Given the description of an element on the screen output the (x, y) to click on. 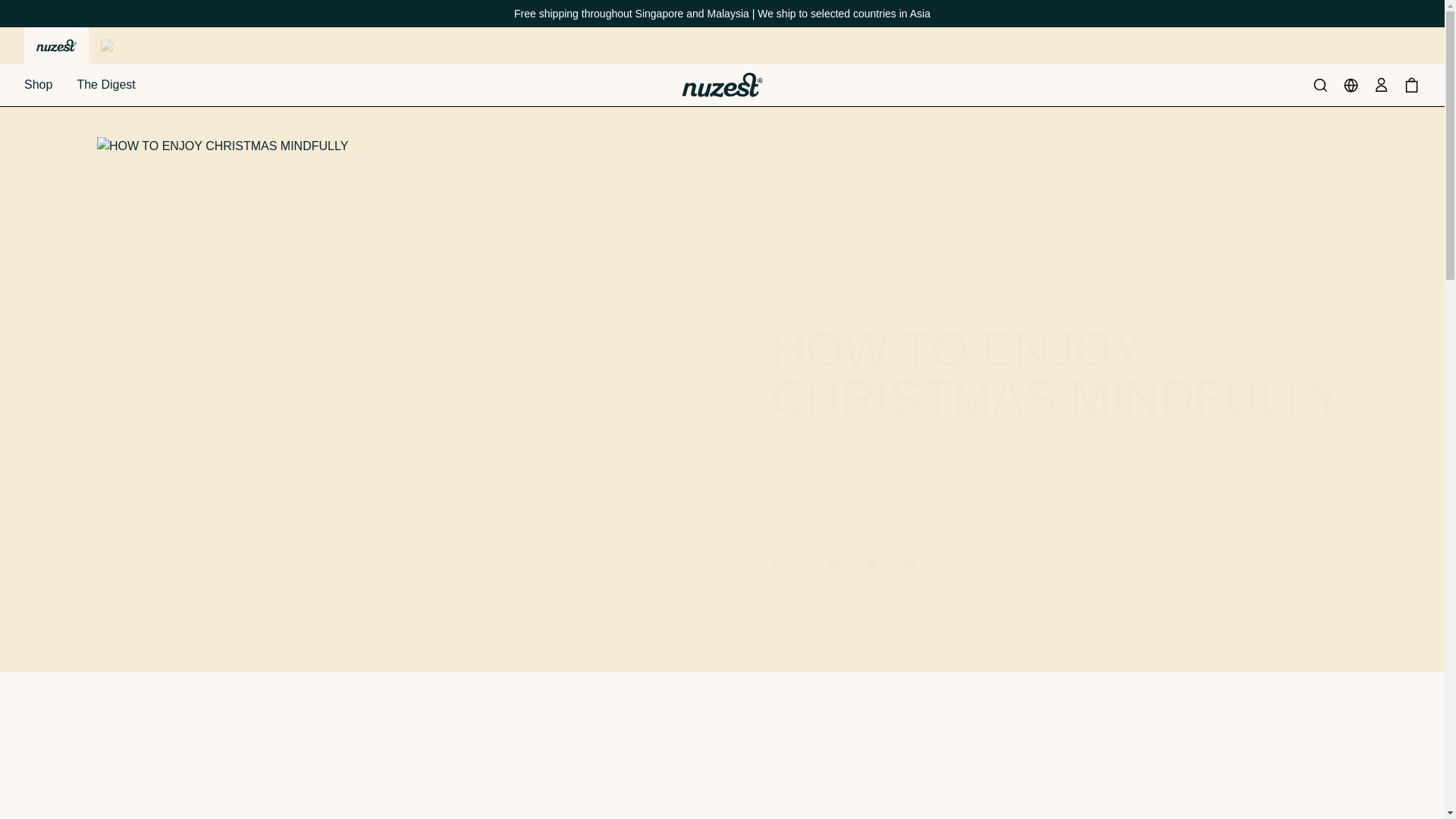
Shop (38, 84)
The Digest (106, 84)
